Given the description of an element on the screen output the (x, y) to click on. 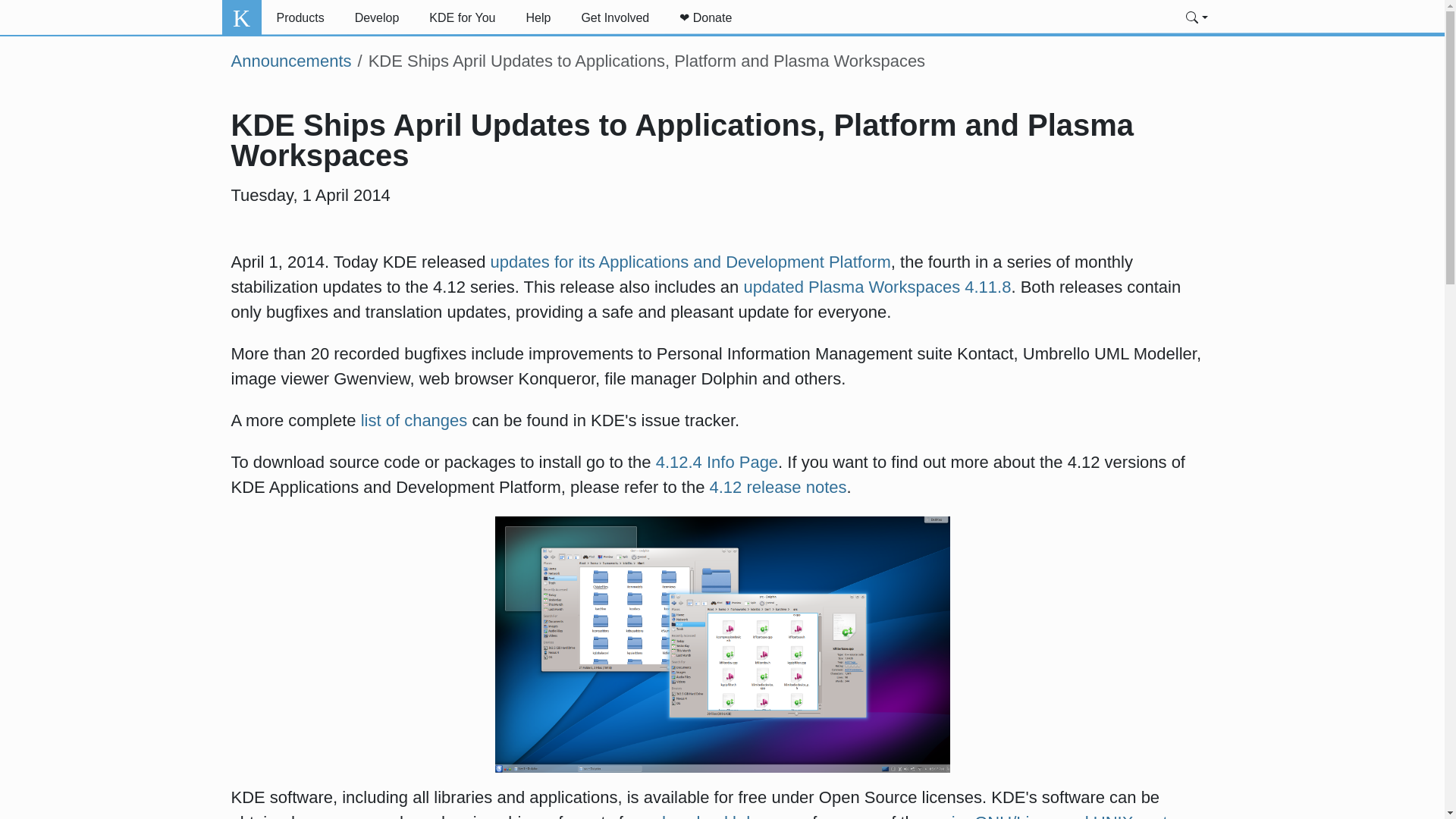
4.12.4 Info Page (716, 461)
Home (240, 18)
Develop (376, 18)
Help (538, 18)
4.12 release notes (778, 486)
KDE for You (462, 18)
download.kde.org (722, 816)
list of changes (414, 420)
Announcements (290, 60)
Get Involved (614, 18)
Products (299, 18)
updated Plasma Workspaces 4.11.8 (876, 286)
updates for its Applications and Development Platform (690, 261)
